Given the description of an element on the screen output the (x, y) to click on. 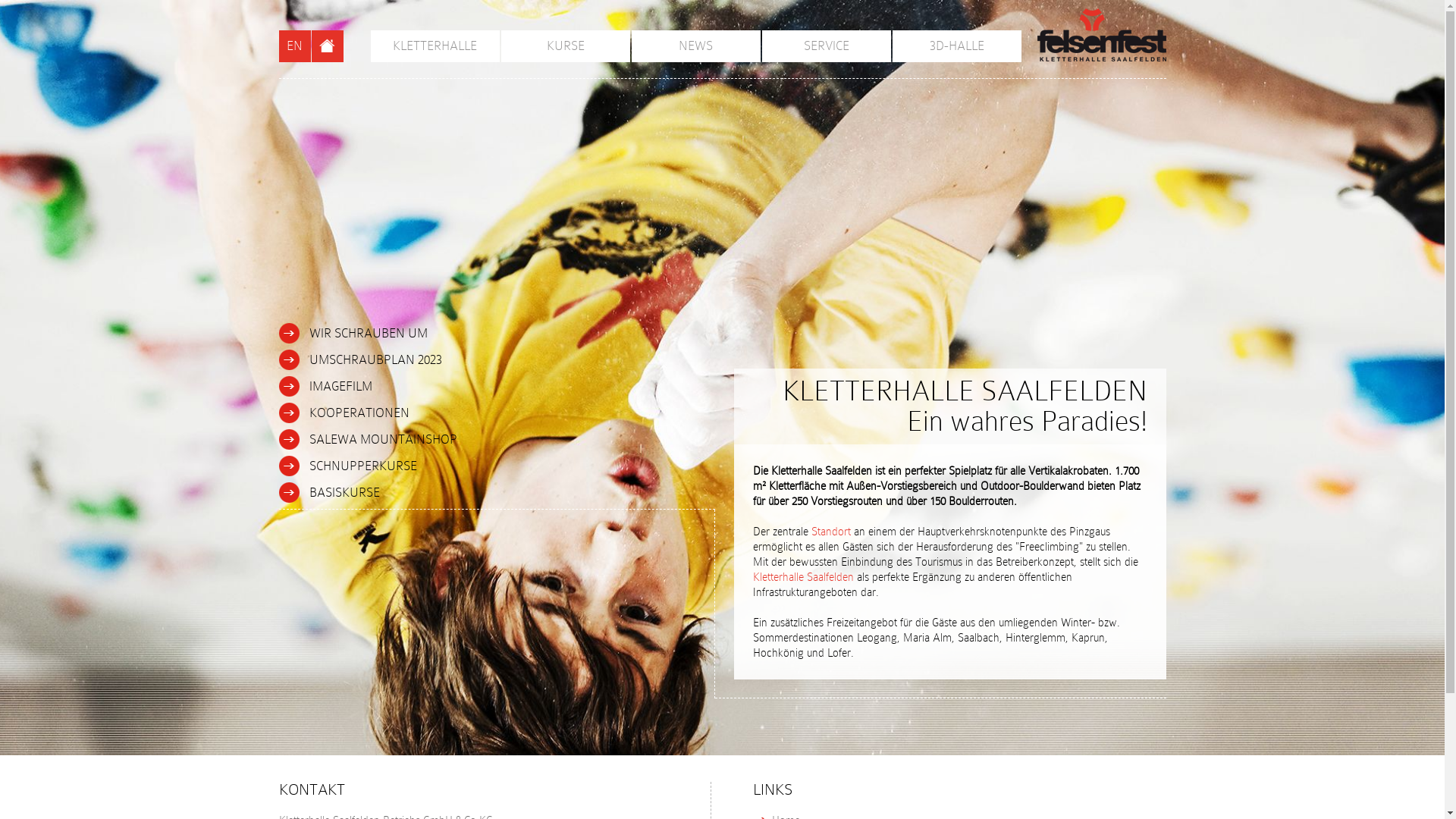
SERVICE Element type: text (825, 46)
HOME Element type: text (326, 46)
NEWS Element type: text (694, 46)
BASISKURSE Element type: text (495, 492)
SALEWA MOUNTAINSHOP Element type: text (495, 439)
KOOPERATIONEN Element type: text (495, 412)
EN Element type: text (294, 46)
KLETTERHALLE Element type: text (434, 46)
SCHNUPPERKURSE Element type: text (495, 465)
3D-HALLE Element type: text (955, 46)
IMAGEFILM Element type: text (495, 386)
Standort Element type: text (830, 531)
Kletterhalle Saalfelden Element type: text (802, 577)
KURSE Element type: text (564, 46)
UMSCHRAUBPLAN 2023 Element type: text (495, 359)
Felsenfest Element type: hover (1101, 34)
WIR SCHRAUBEN UM Element type: text (495, 333)
